Given the description of an element on the screen output the (x, y) to click on. 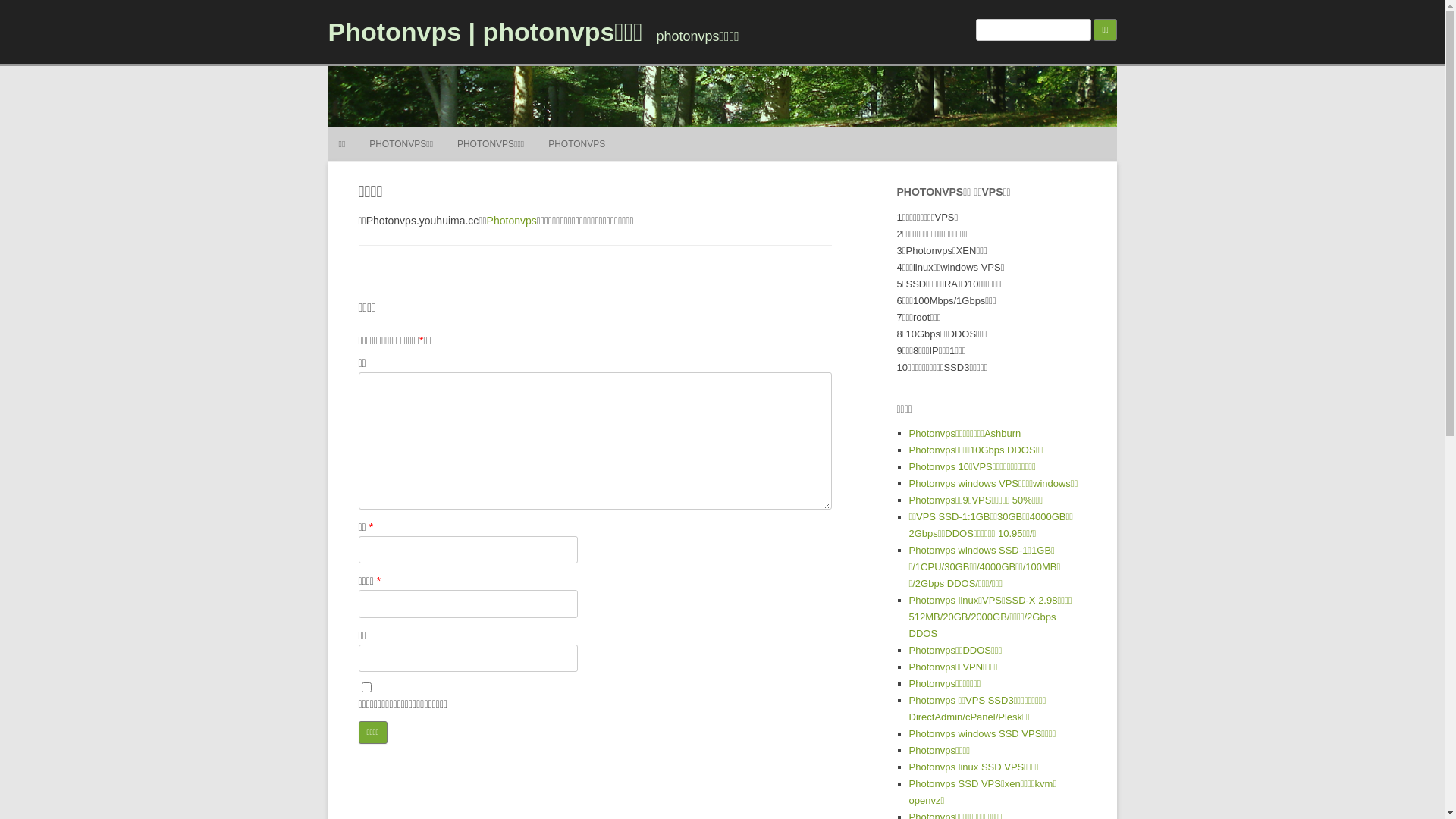
Skip to content Element type: text (756, 132)
Photonvps Element type: text (511, 220)
PHOTONVPS Element type: text (576, 143)
